Given the description of an element on the screen output the (x, y) to click on. 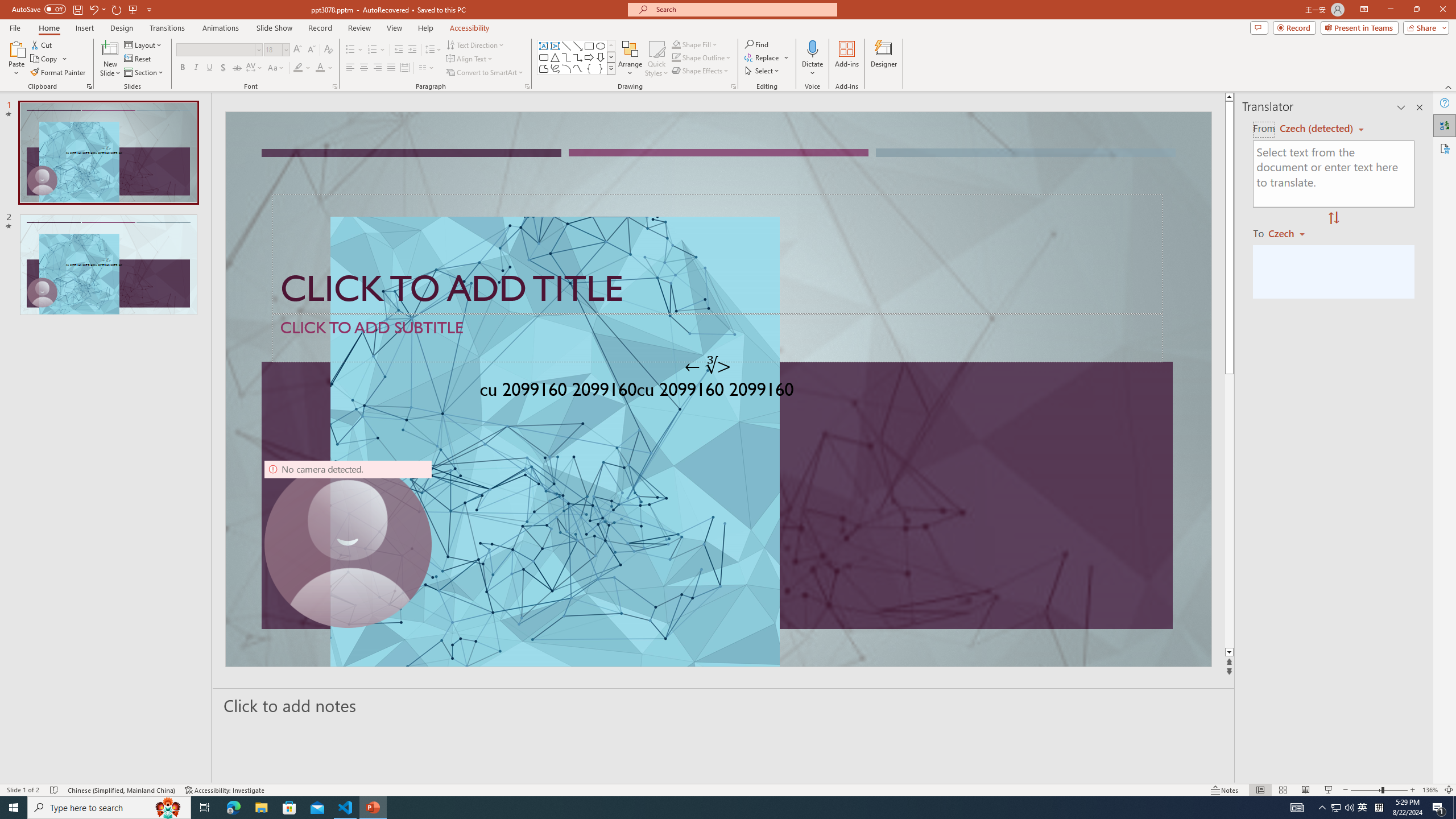
Font Size (273, 49)
Text Highlight Color (302, 67)
Format Painter (58, 72)
Font (219, 49)
Font Color (324, 67)
Select (762, 69)
Strikethrough (237, 67)
Camera 9, No camera detected. (347, 543)
Line up (1229, 96)
Shape Outline (701, 56)
Arrange (630, 58)
Connector: Elbow Arrow (577, 57)
Line (566, 45)
